Given the description of an element on the screen output the (x, y) to click on. 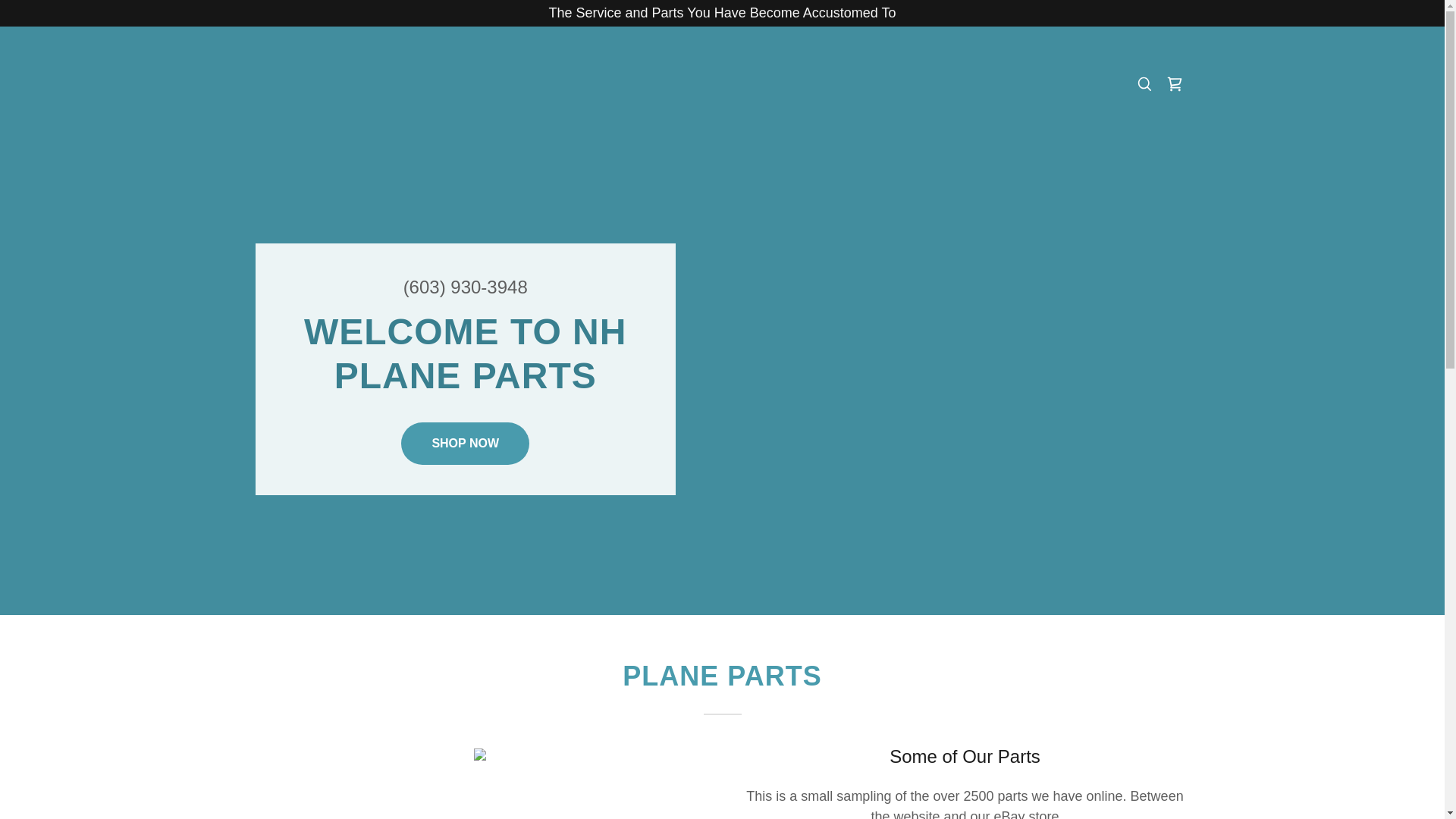
SHOP NOW (465, 443)
